Given the description of an element on the screen output the (x, y) to click on. 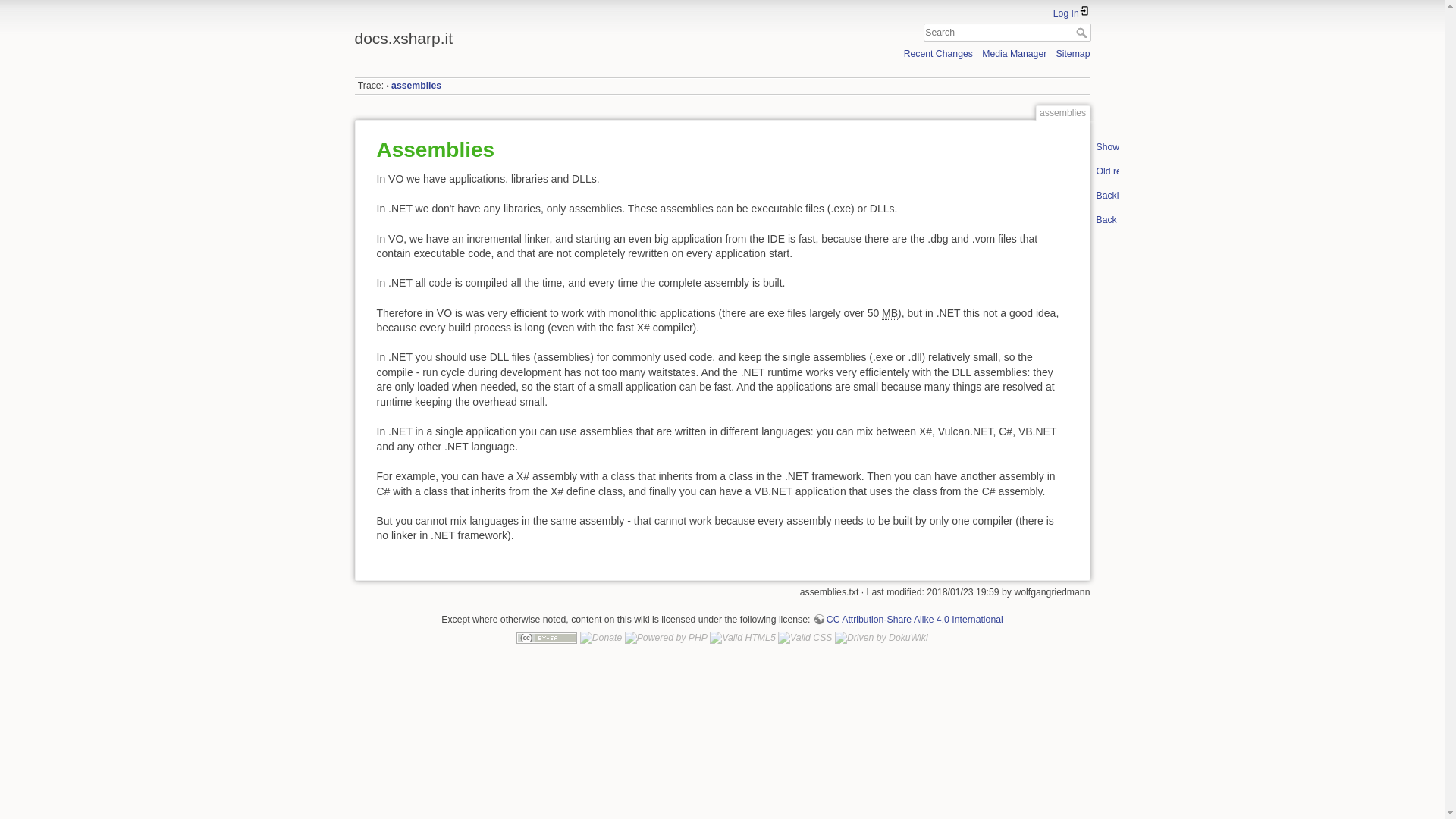
Search (1082, 32)
Log In (1071, 13)
Back to top (1106, 222)
Megabyte (890, 312)
Log In (1071, 13)
Recent Changes (938, 53)
assemblies (416, 85)
docs.xsharp.it (534, 34)
Backlinks (1106, 198)
Search (1082, 32)
